Given the description of an element on the screen output the (x, y) to click on. 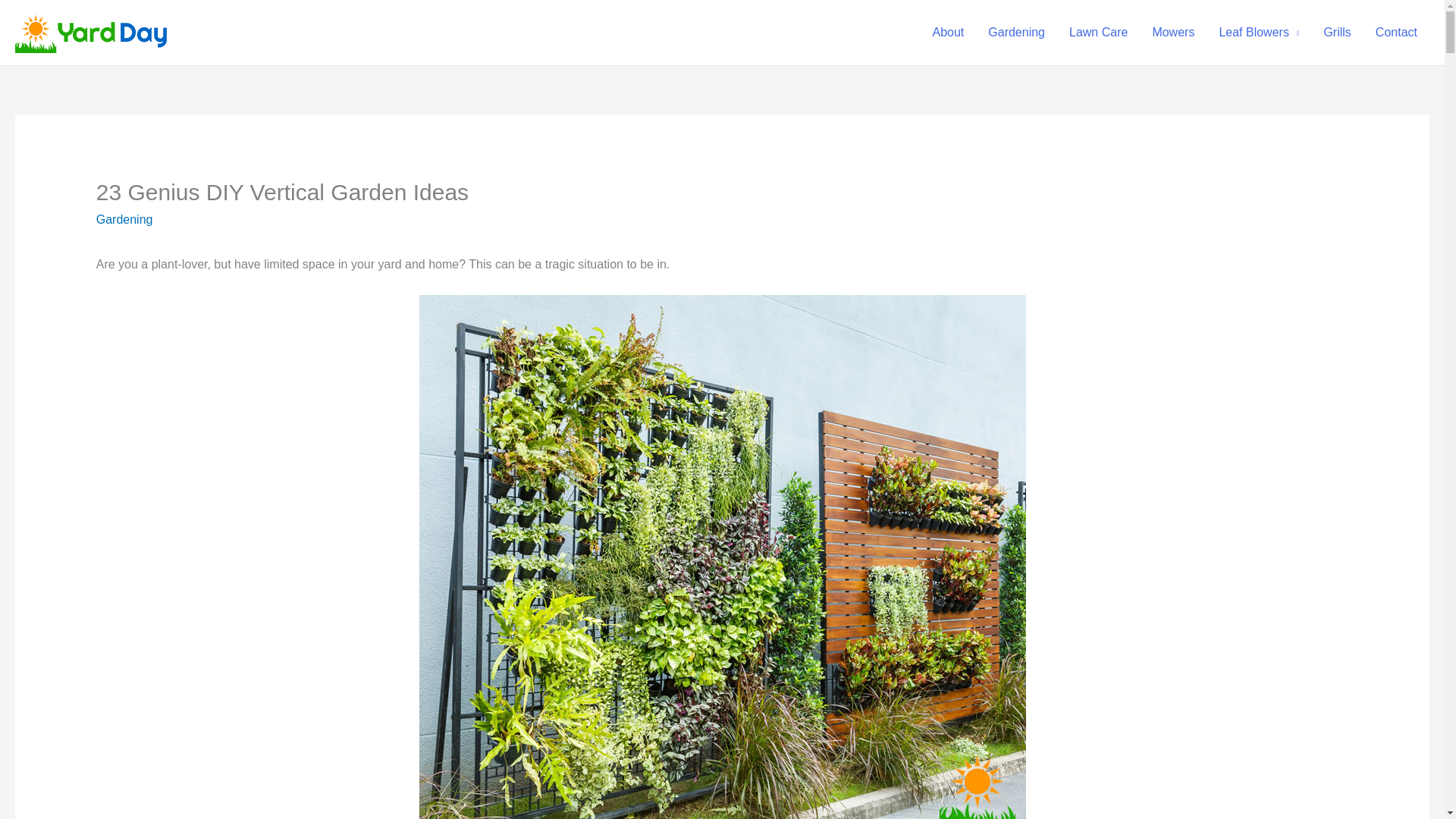
About (947, 31)
Contact (1395, 31)
Leaf Blowers (1259, 31)
Gardening (124, 219)
Mowers (1173, 31)
Grills (1336, 31)
Lawn Care (1098, 31)
Gardening (1016, 31)
